Given the description of an element on the screen output the (x, y) to click on. 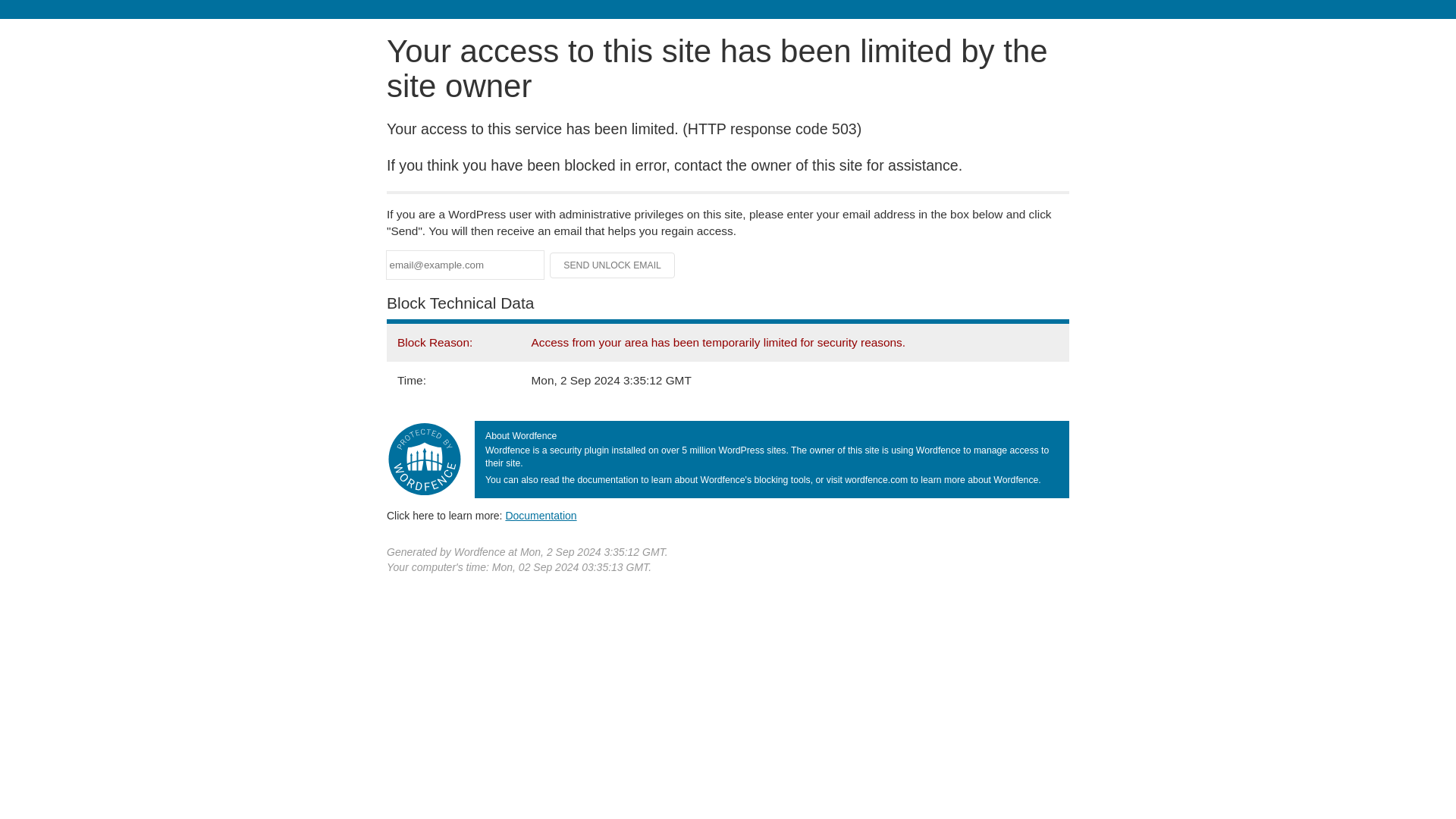
Send Unlock Email (612, 265)
Documentation (540, 515)
Send Unlock Email (612, 265)
